Given the description of an element on the screen output the (x, y) to click on. 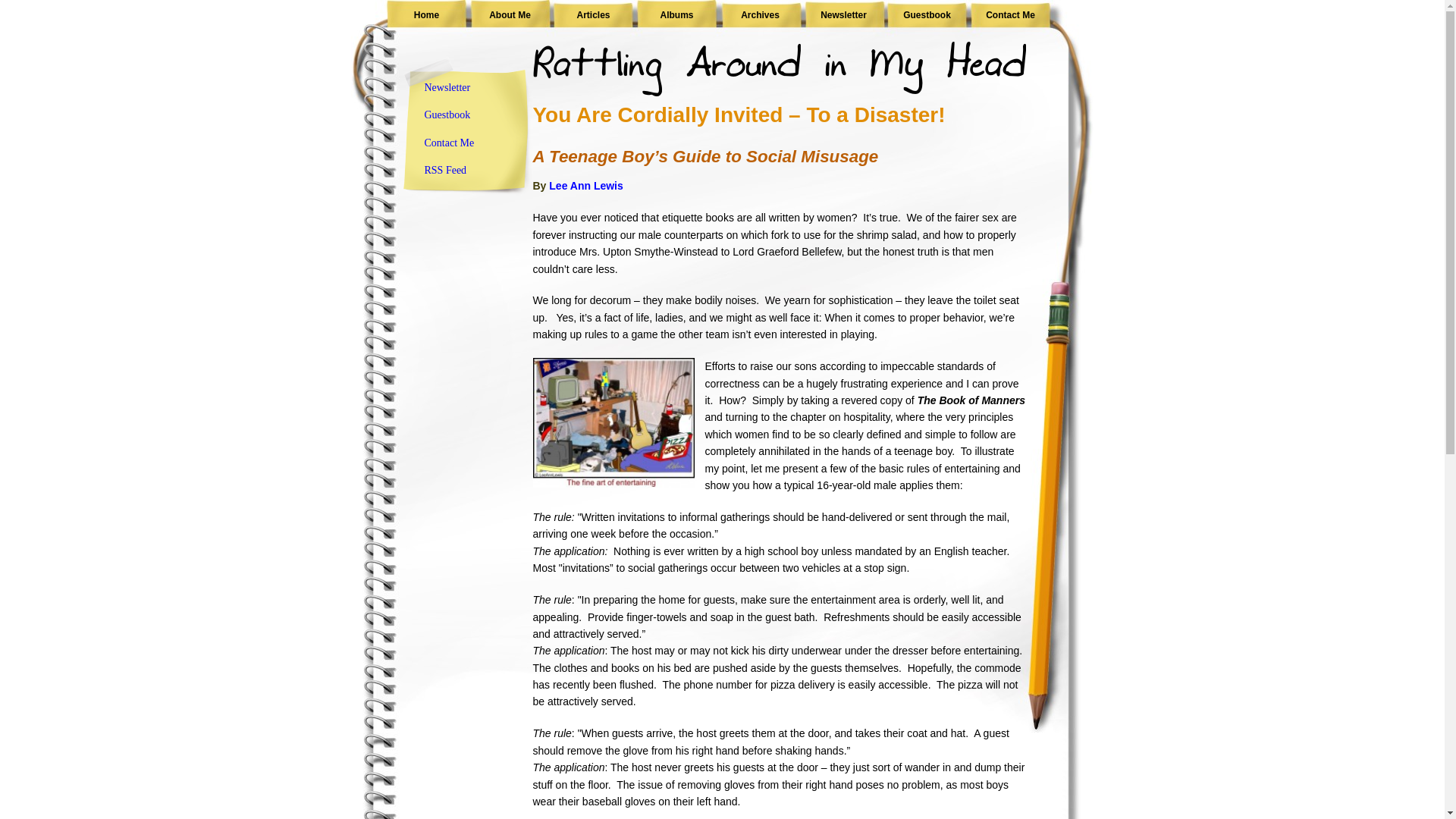
Rattling Around in My Head (427, 15)
Articles (593, 15)
Home (427, 15)
About Me (510, 15)
